Given the description of an element on the screen output the (x, y) to click on. 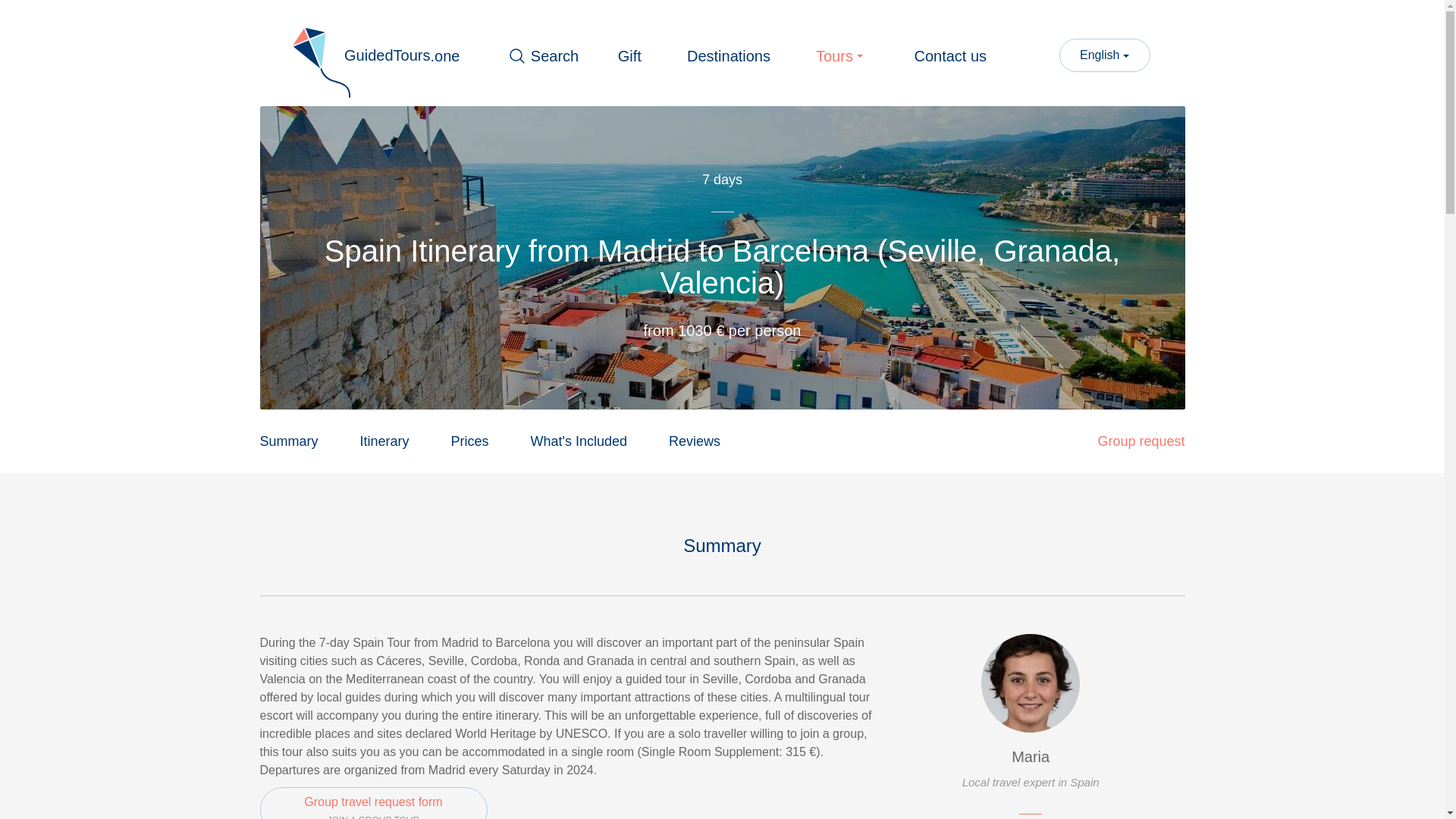
Tours (841, 55)
What's Included (579, 441)
Contact us (372, 803)
Reviews (950, 55)
Group request (694, 441)
Destinations (1141, 441)
Itinerary (728, 55)
Summary (384, 441)
Gift (288, 441)
